Given the description of an element on the screen output the (x, y) to click on. 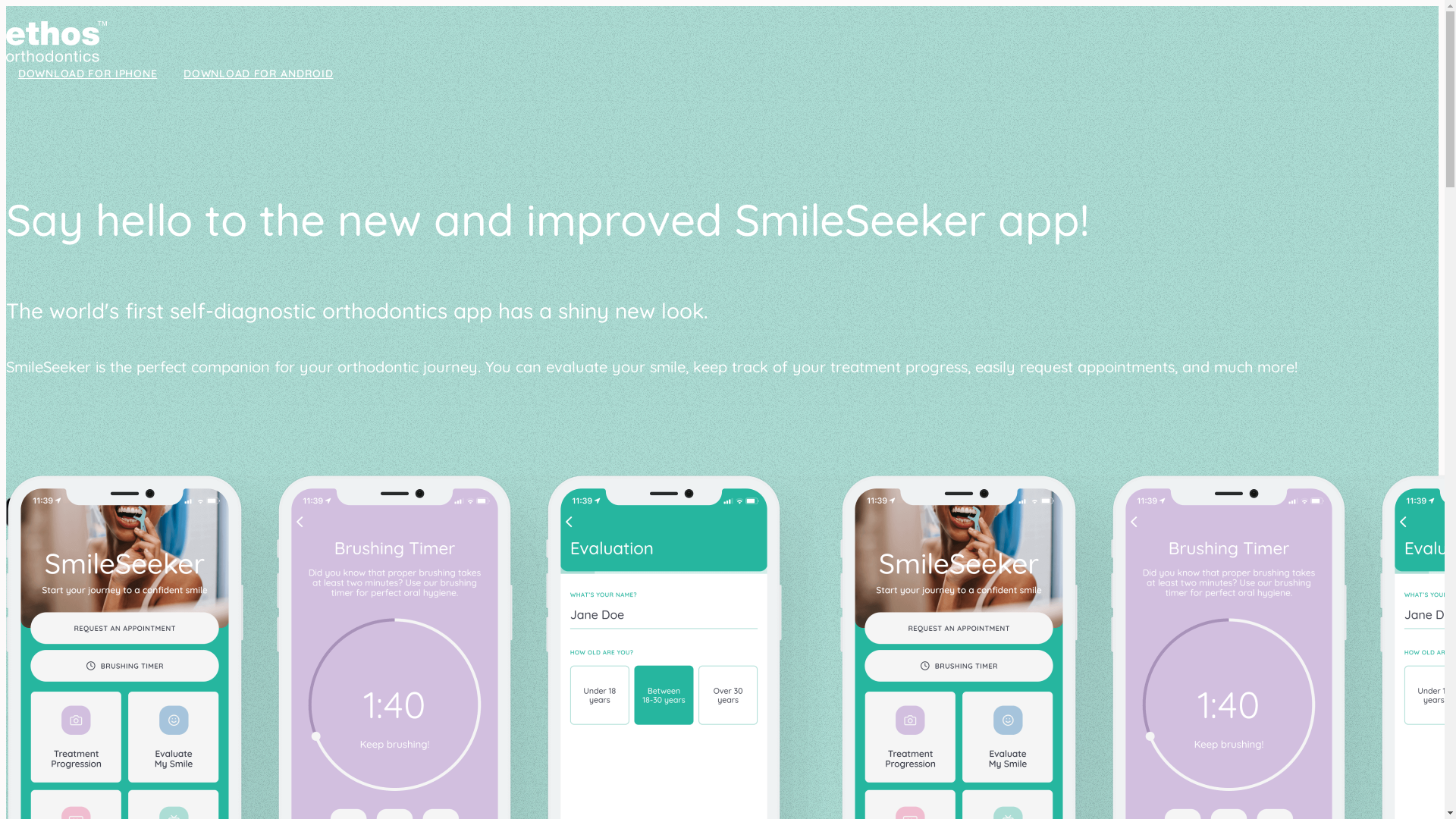
DOWNLOAD FOR IPHONE Element type: text (93, 73)
DOWNLOAD FOR ANDROID Element type: text (263, 73)
Skip to main content Element type: text (64, 6)
